Given the description of an element on the screen output the (x, y) to click on. 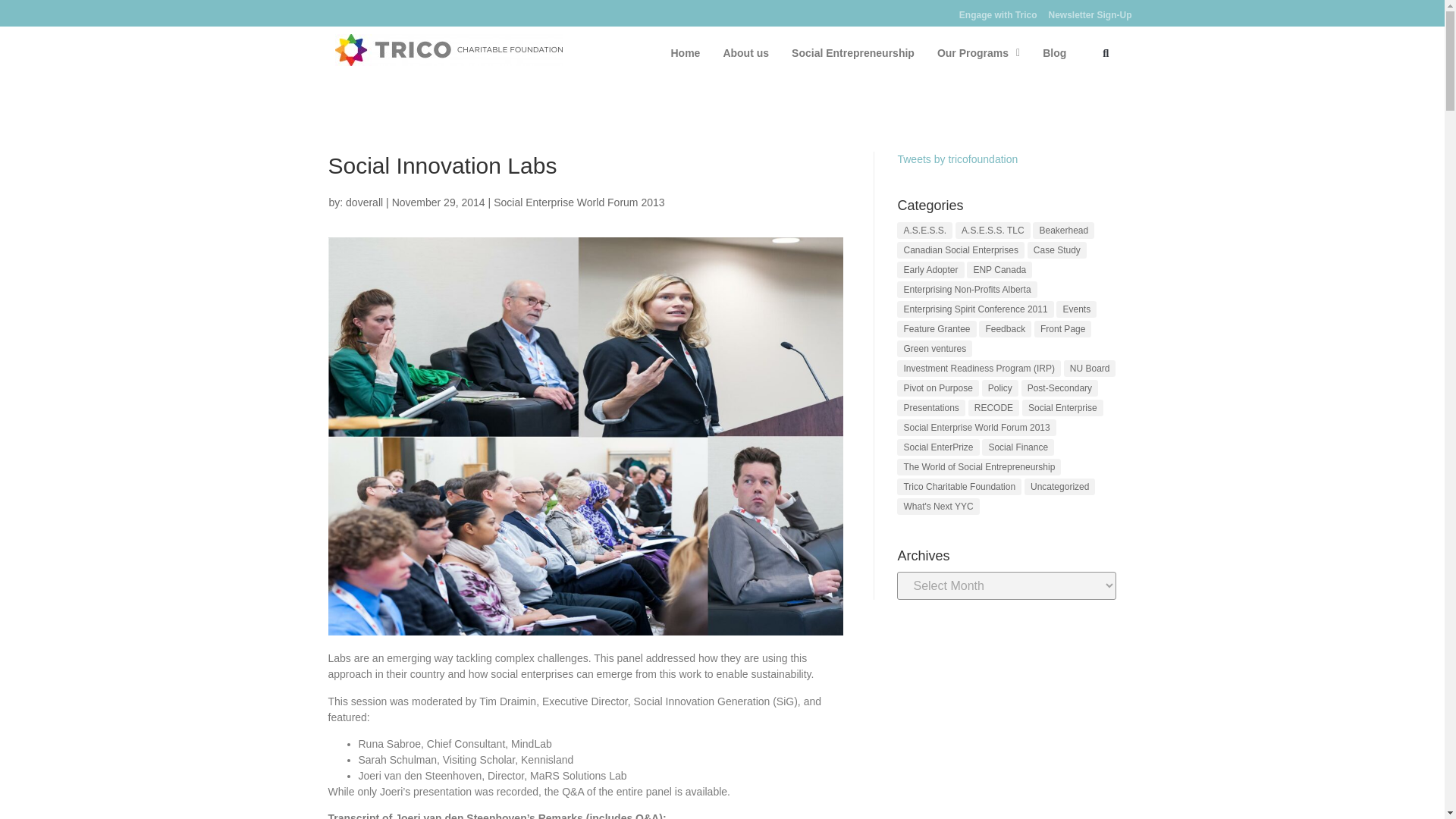
Our Programs (978, 53)
Newsletter Sign-Up (1089, 13)
Home (685, 53)
Social Entrepreneurship (853, 53)
Blog (1053, 53)
Engage with Trico (997, 13)
About us (745, 53)
